Given the description of an element on the screen output the (x, y) to click on. 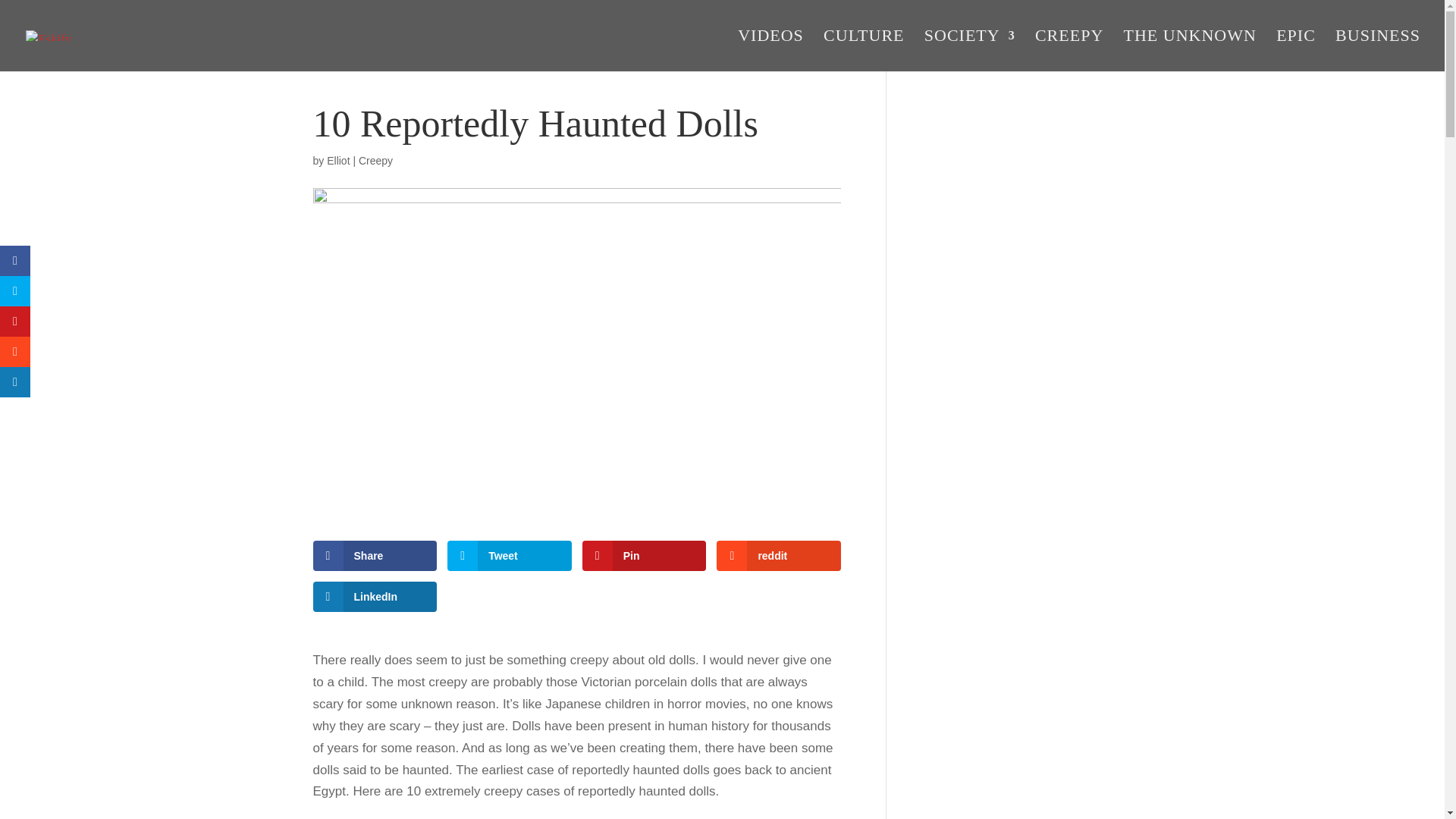
CULTURE (864, 50)
THE UNKNOWN (1190, 50)
Elliot (337, 160)
Creepy (375, 160)
CREEPY (1069, 50)
VIDEOS (770, 50)
Share (374, 555)
Posts by Elliot (337, 160)
reddit (778, 555)
SOCIETY (969, 50)
EPIC (1296, 50)
LinkedIn (374, 596)
Pin (644, 555)
BUSINESS (1378, 50)
Tweet (509, 555)
